Given the description of an element on the screen output the (x, y) to click on. 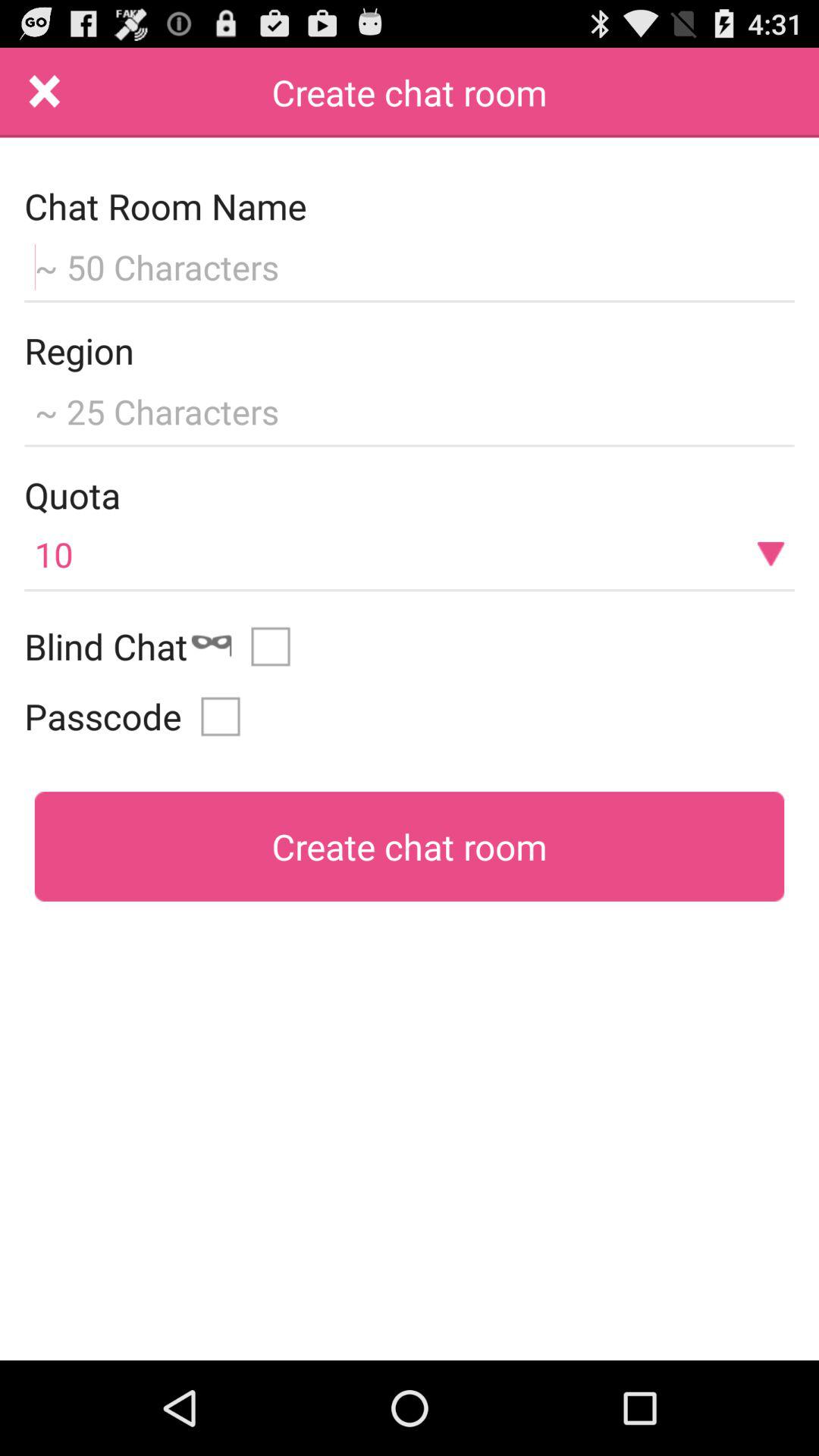
select blind chat (276, 646)
